Given the description of an element on the screen output the (x, y) to click on. 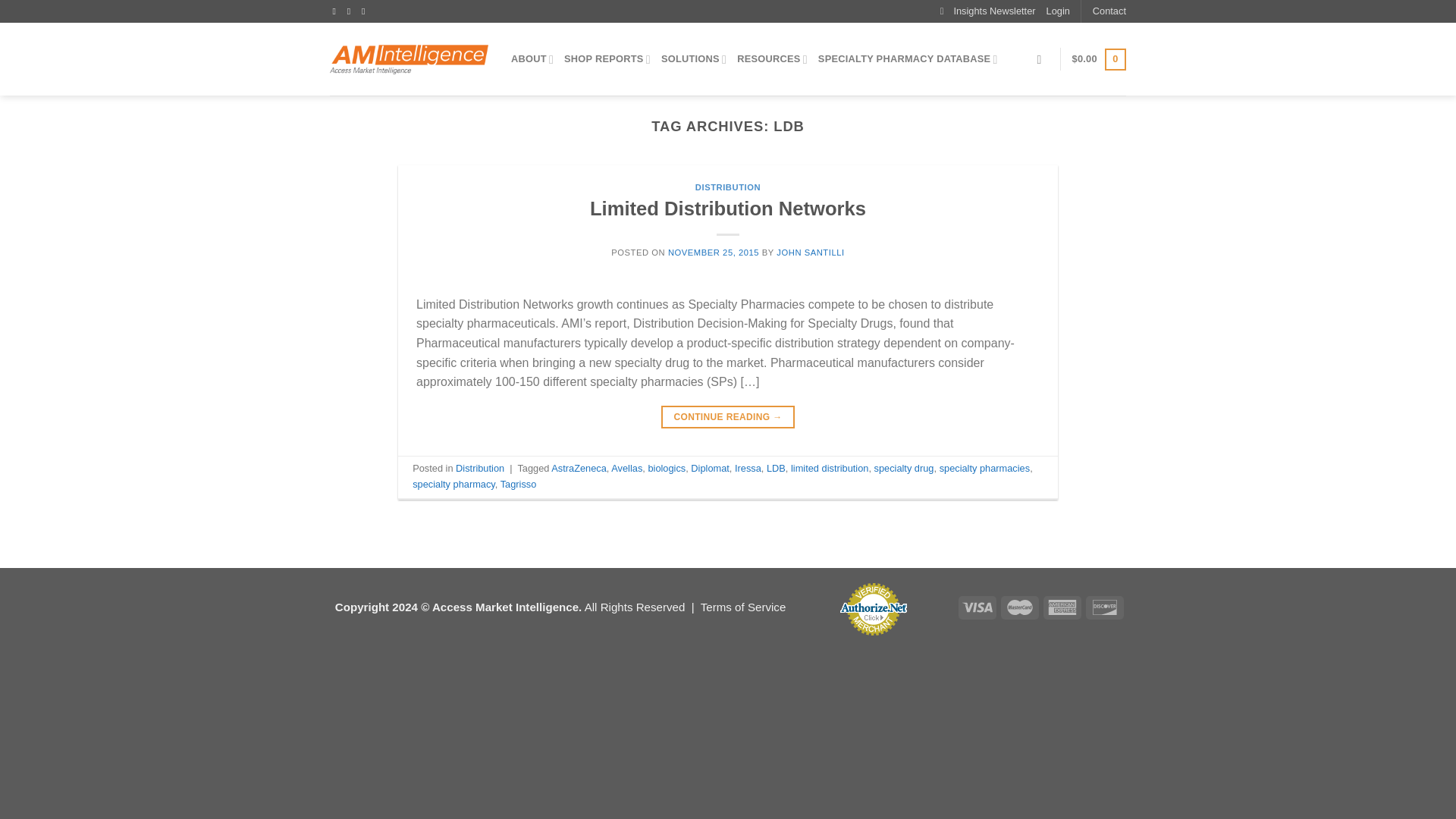
Login (1058, 11)
SOLUTIONS (693, 59)
SHOP REPORTS (607, 59)
Subscribe  (987, 11)
RESOURCES (772, 59)
Cart (1098, 59)
Contact (1109, 11)
Access Market Intelligence (408, 58)
Insights Newsletter (987, 11)
ABOUT (532, 59)
